Given the description of an element on the screen output the (x, y) to click on. 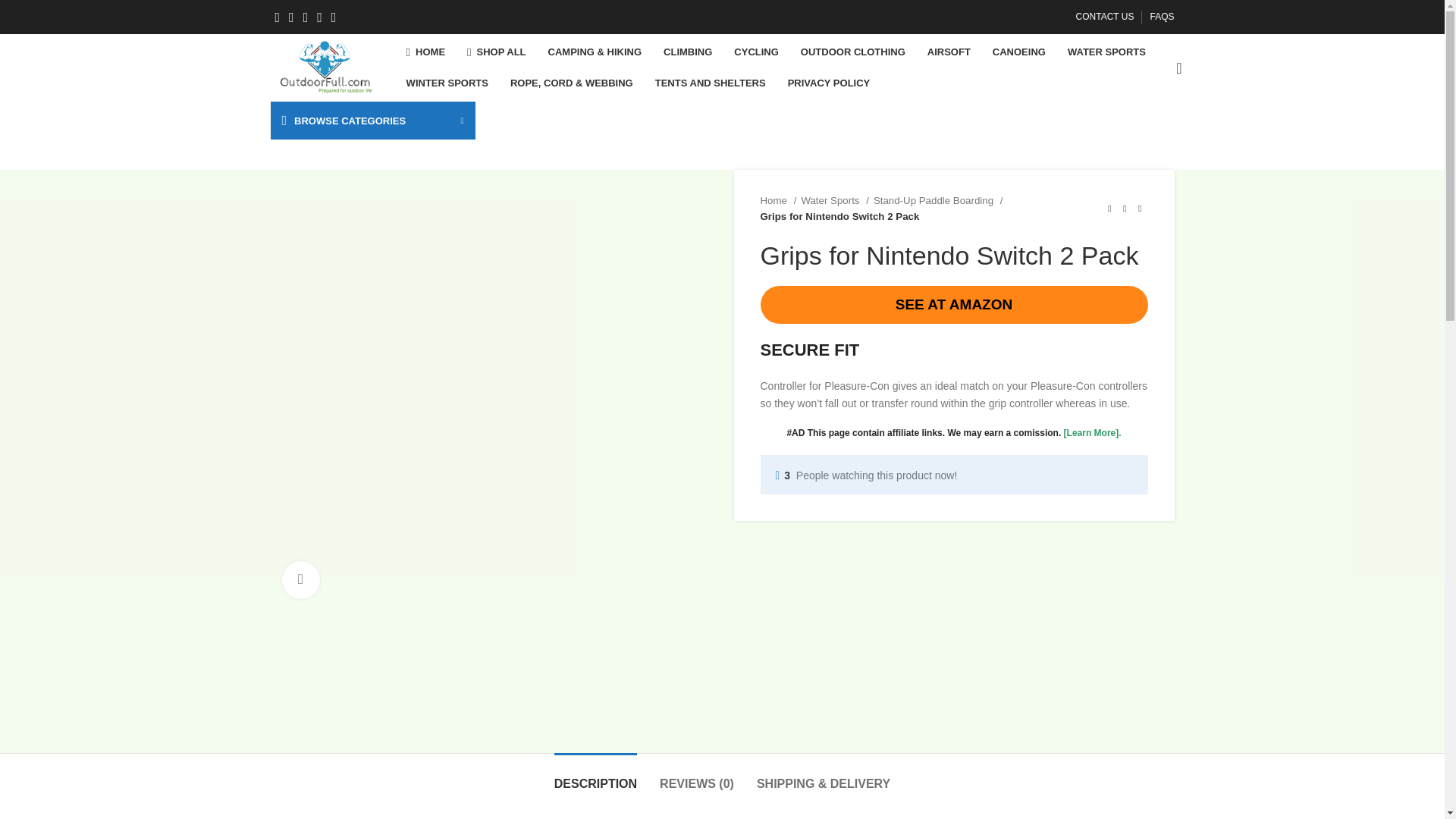
CANOEING (1019, 51)
WATER SPORTS (1106, 51)
AIRSOFT (948, 51)
CONTACT US (1104, 16)
WINTER SPORTS (447, 82)
HOME (425, 51)
CYCLING (756, 51)
CLIMBING (686, 51)
SHOP ALL (496, 51)
PRIVACY POLICY (828, 82)
